Given the description of an element on the screen output the (x, y) to click on. 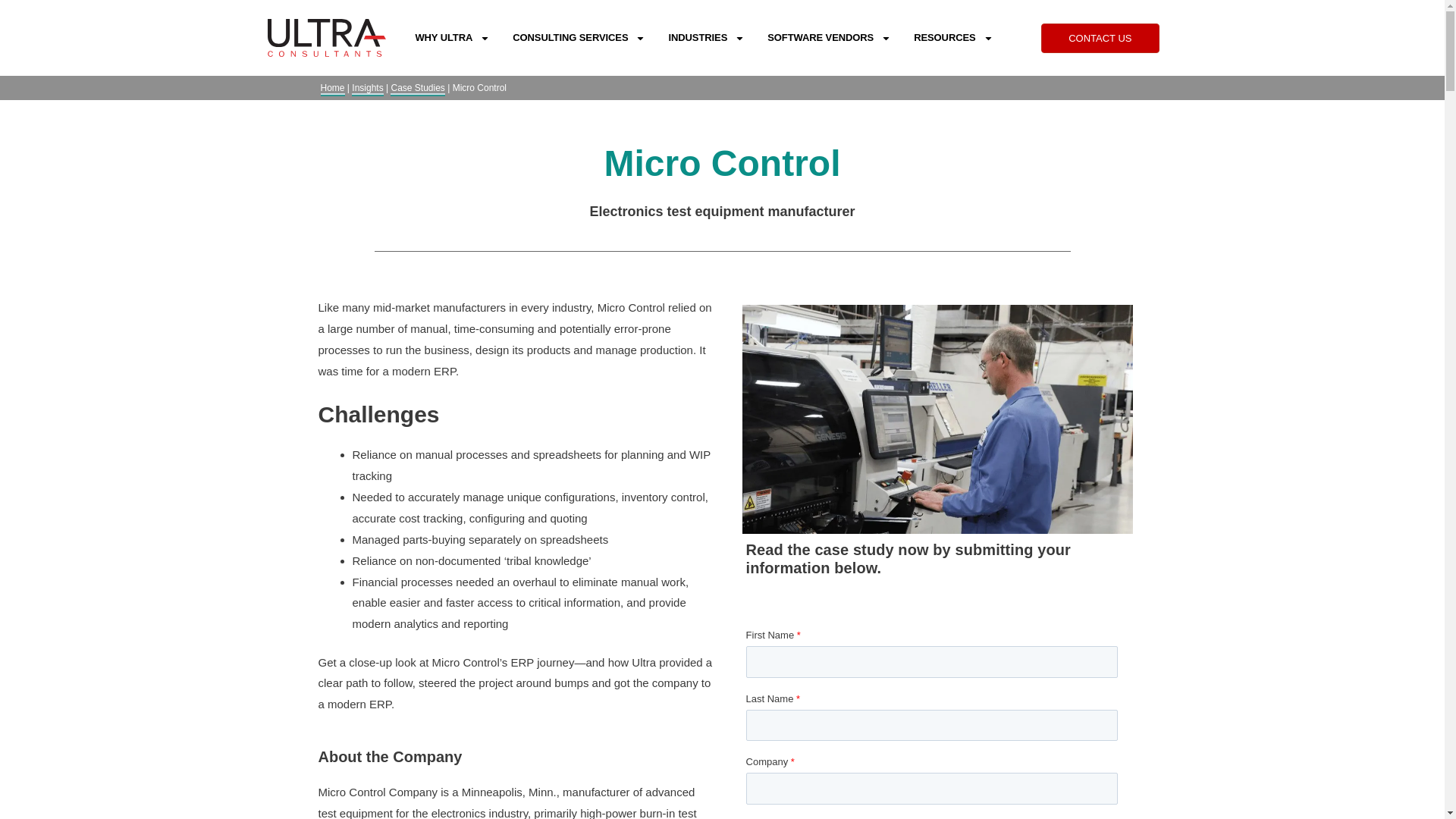
INDUSTRIES (705, 37)
Micro Control 2 (938, 418)
WHY ULTRA (451, 37)
SOFTWARE VENDORS (828, 37)
CONSULTING SERVICES (578, 37)
